Given the description of an element on the screen output the (x, y) to click on. 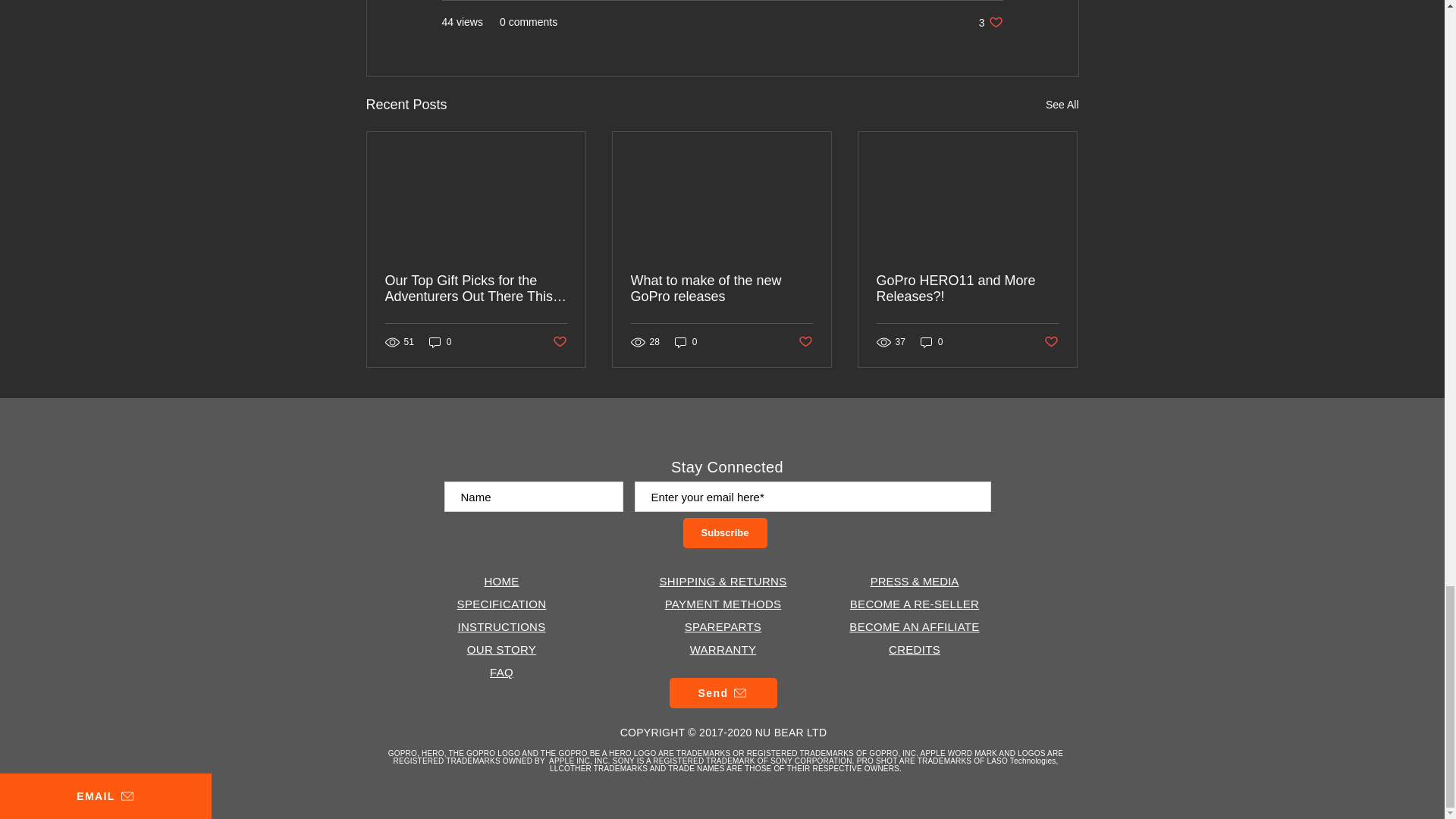
0 (931, 341)
See All (990, 22)
GoPro HERO11 and More Releases?! (1061, 105)
0 (967, 288)
What to make of the new GoPro releases (685, 341)
0 (721, 288)
Post not marked as liked (440, 341)
Post not marked as liked (558, 342)
